Given the description of an element on the screen output the (x, y) to click on. 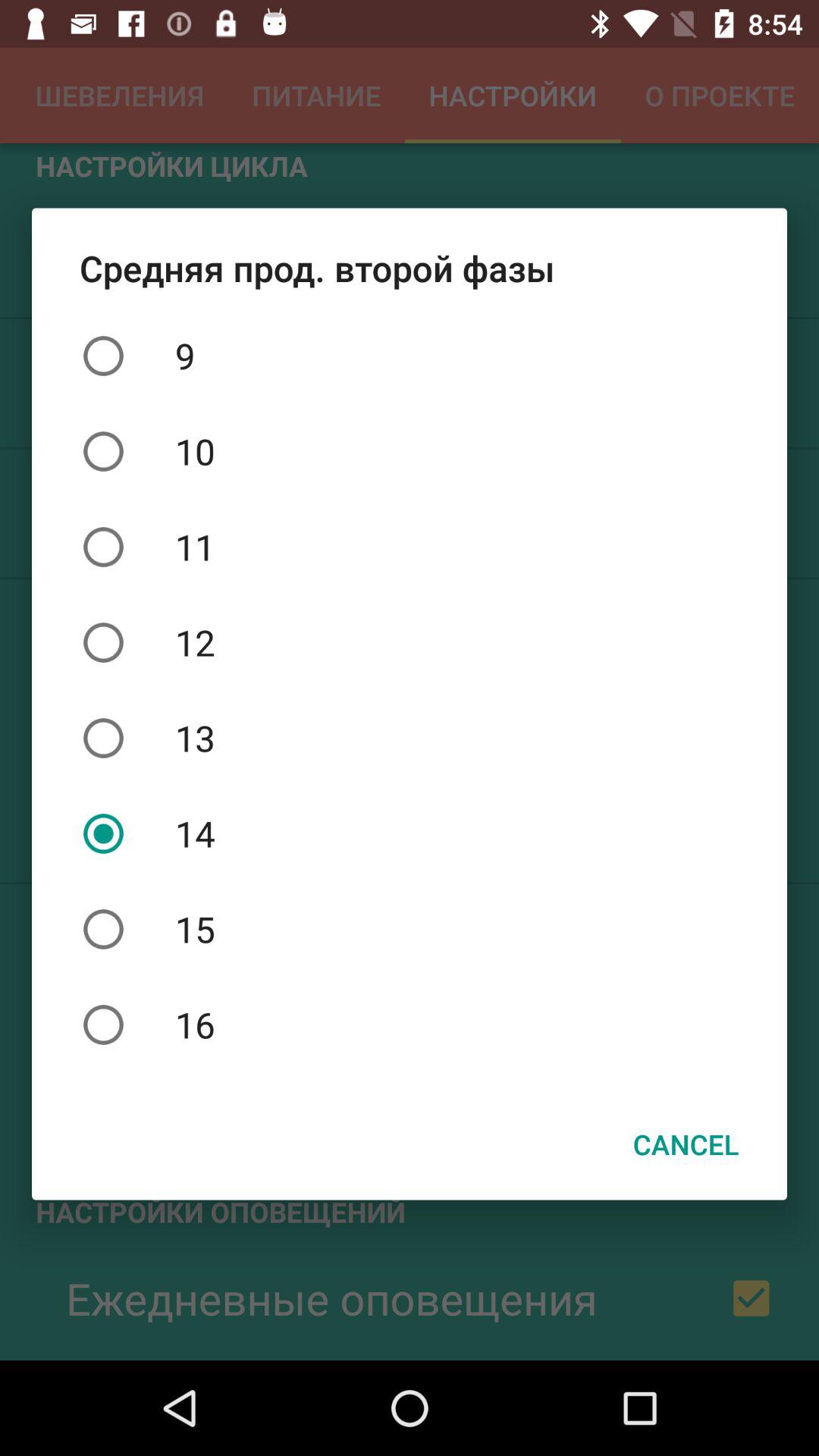
click cancel item (686, 1144)
